Given the description of an element on the screen output the (x, y) to click on. 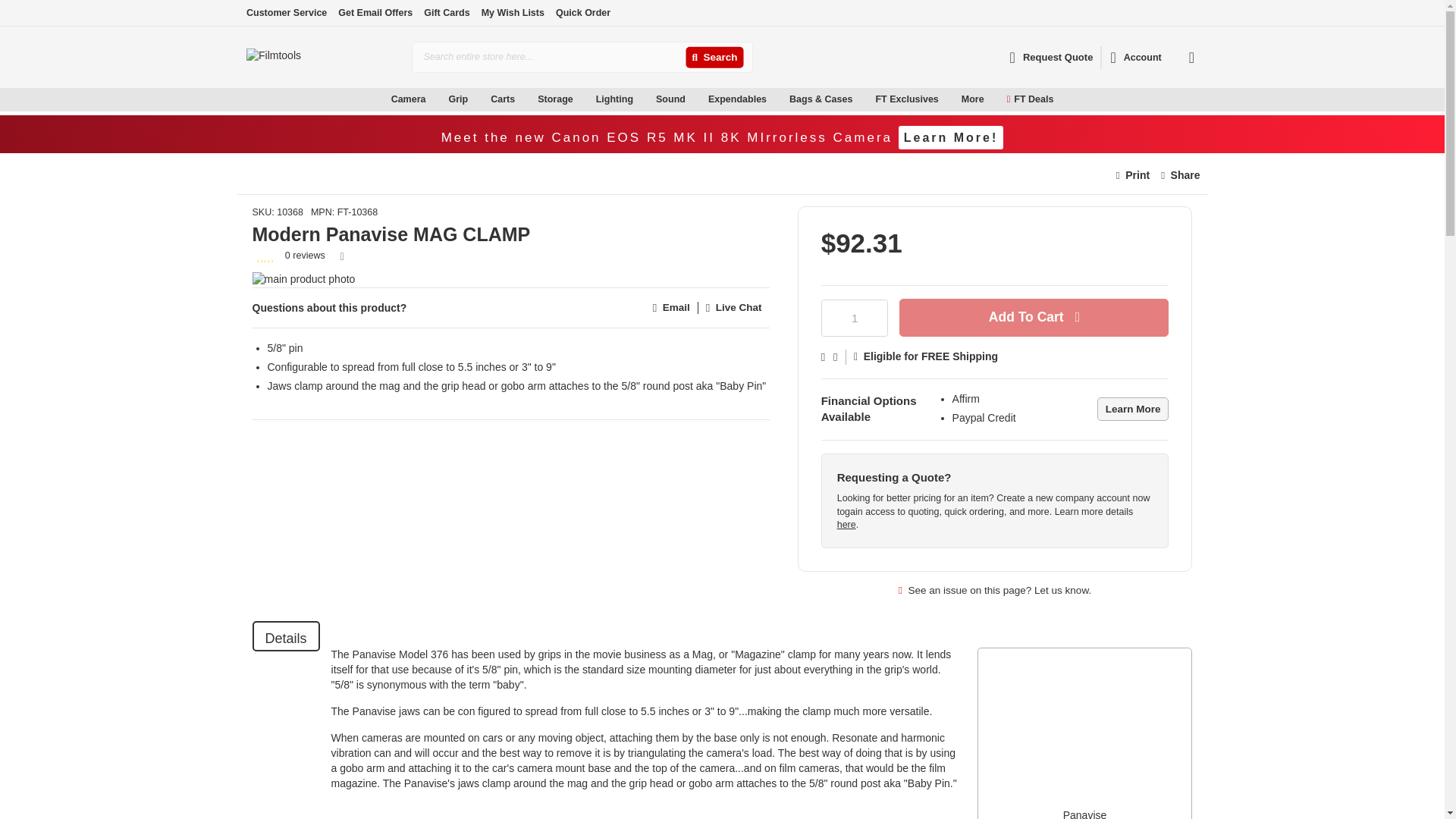
Get Email Offers (374, 12)
Share (1179, 175)
Gift Cards (445, 12)
Search (713, 57)
Qty (854, 317)
Report Issue (994, 590)
Search (713, 57)
My Wish Lists (512, 12)
Professional Cine Cameras (330, 116)
Filmtools (321, 57)
Cameras (330, 116)
Camera Support (506, 116)
Customer Service (286, 12)
Request Quote (1051, 56)
Print (1133, 175)
